Given the description of an element on the screen output the (x, y) to click on. 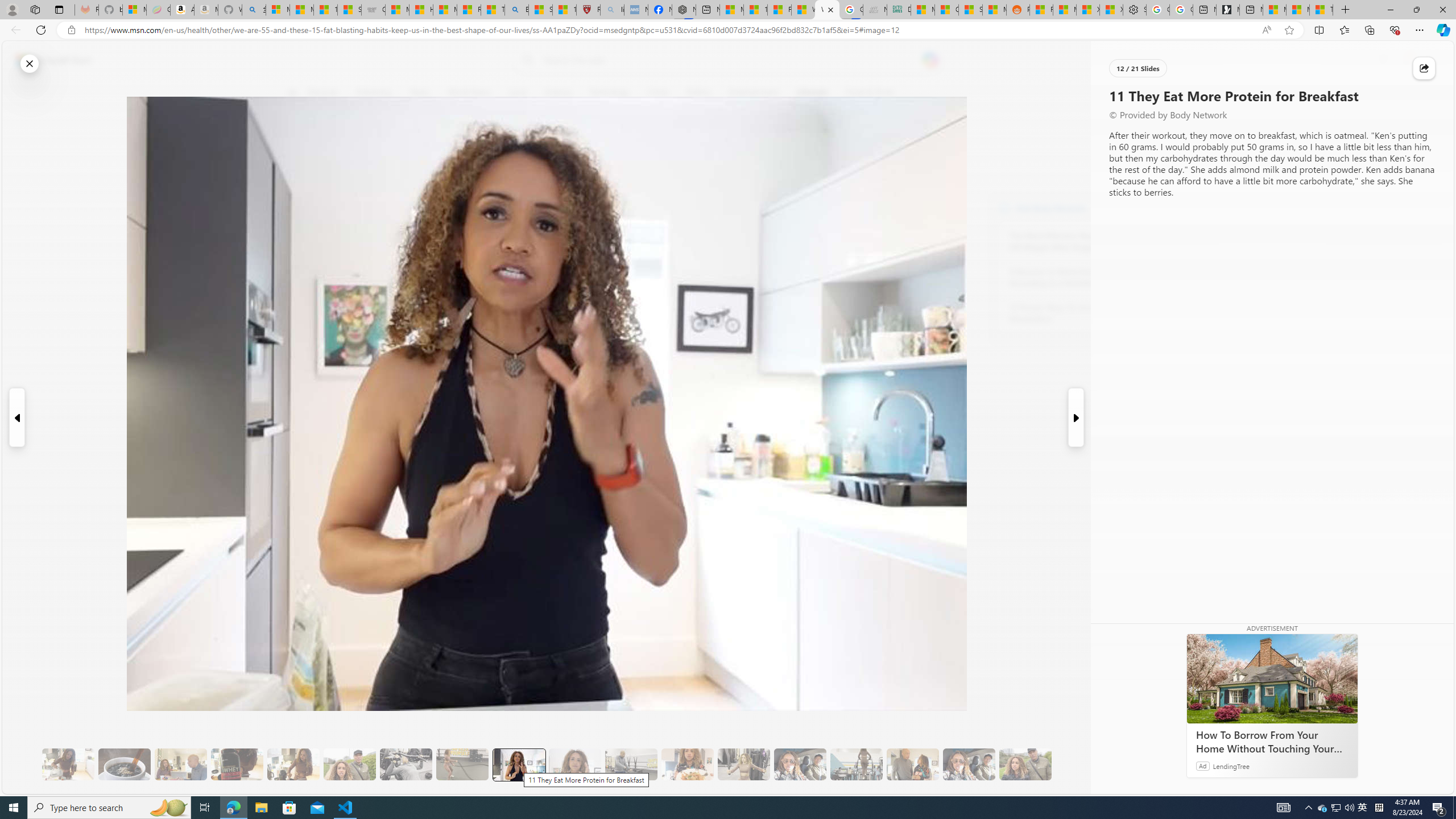
Robert H. Shmerling, MD - Harvard Health (588, 9)
Enter your search term (730, 59)
18 It's More Fun Doing It with Someone Else (912, 764)
8 Reasons to Drink Kombucha, According to a Nutritionist (1071, 277)
5 She Eats Less Than Her Husband (180, 764)
19 It Also Simplifies Thiings (968, 764)
20 Overall, It Will Improve Your Health (1024, 764)
